Given the description of an element on the screen output the (x, y) to click on. 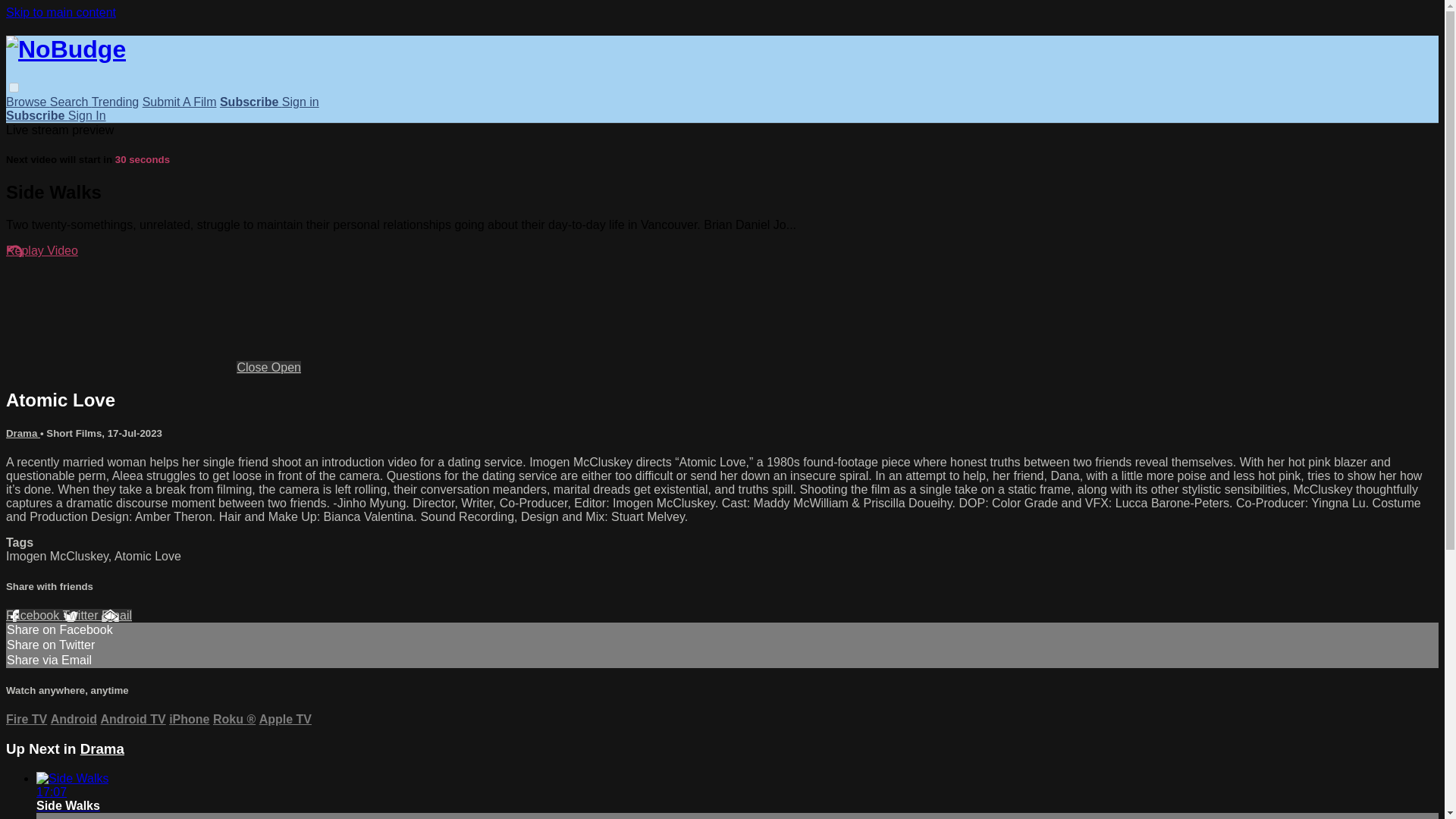
Subscribe (250, 101)
Short Films (73, 432)
Open (285, 367)
Browse (27, 101)
Video Player (118, 314)
17-Jul-2023 (134, 432)
Trending (115, 101)
Atomic Love (147, 555)
Imogen McCluskey (56, 555)
Fire TV (25, 718)
Facebook (33, 615)
Search (70, 101)
Email (116, 615)
Replay Video (41, 250)
Sign In (87, 115)
